Given the description of an element on the screen output the (x, y) to click on. 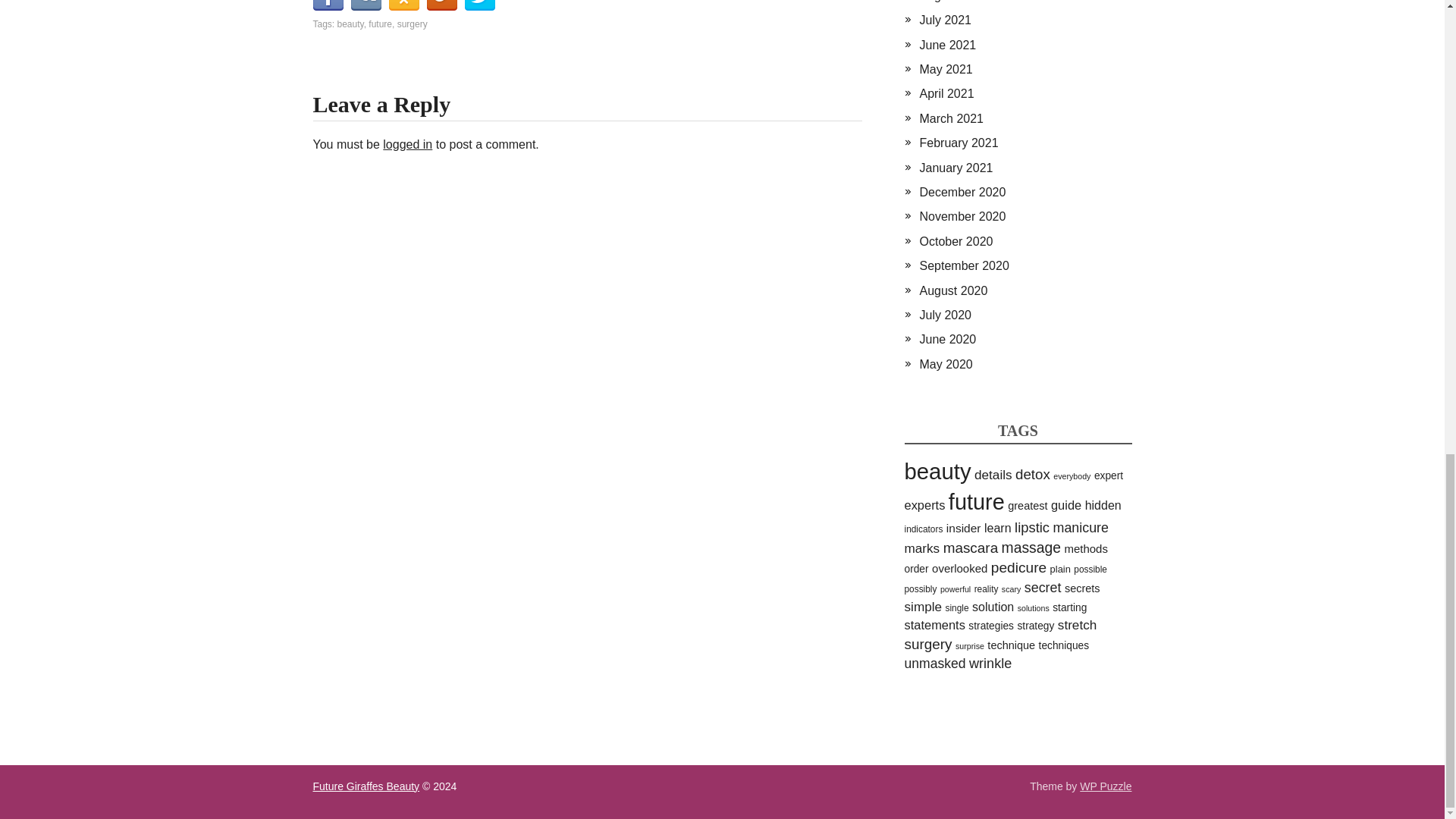
Share in OK (403, 5)
logged in (407, 144)
Share in VK (365, 5)
future (379, 23)
surgery (412, 23)
June 2021 (946, 44)
April 2021 (946, 92)
March 2021 (951, 118)
beauty (350, 23)
Share in Twitter (479, 5)
